Given the description of an element on the screen output the (x, y) to click on. 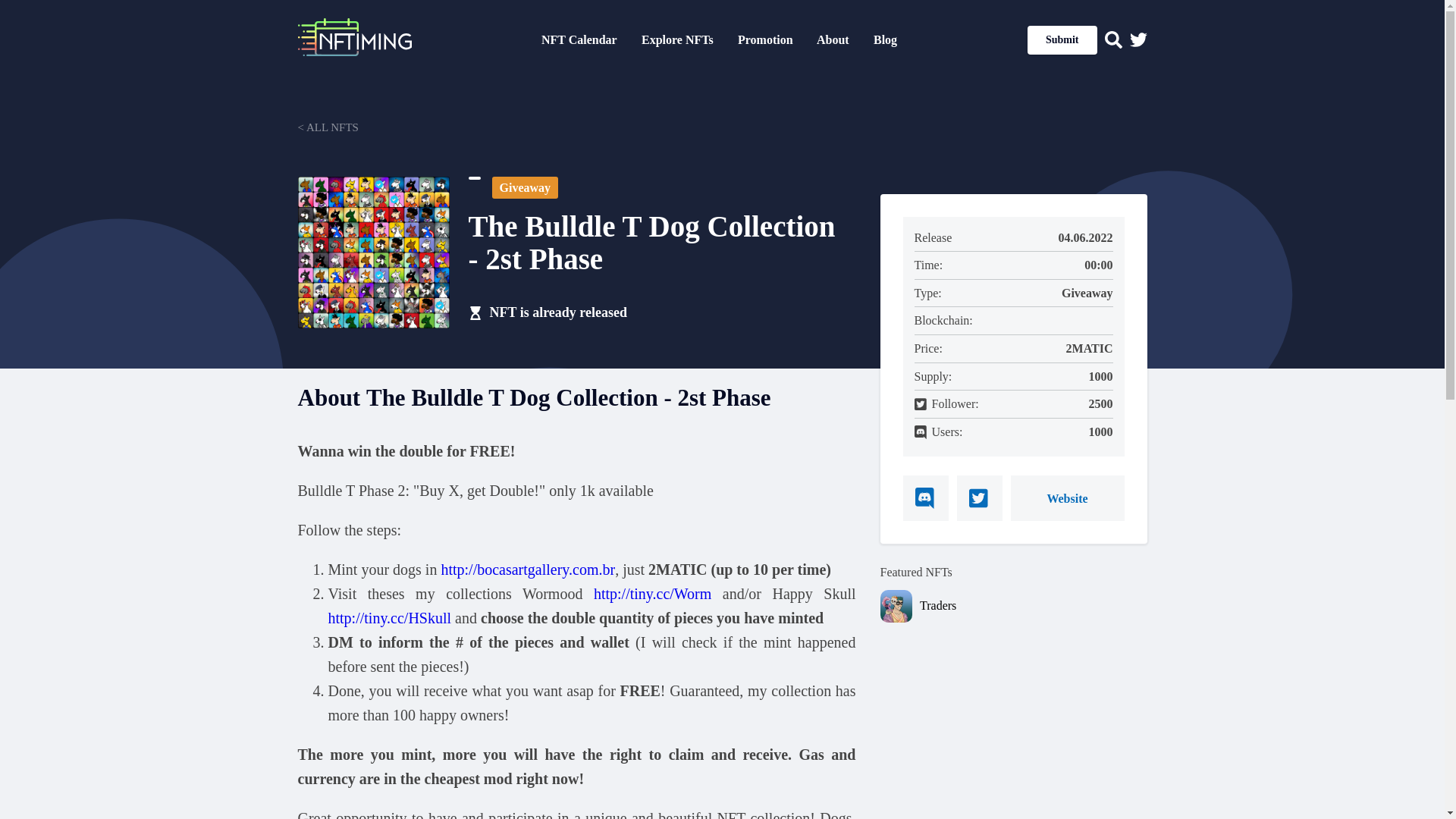
Traders (1033, 605)
Blog (884, 39)
NFT Calendar (579, 40)
Website (1067, 497)
Submit (1062, 39)
Promotion (765, 40)
